Given the description of an element on the screen output the (x, y) to click on. 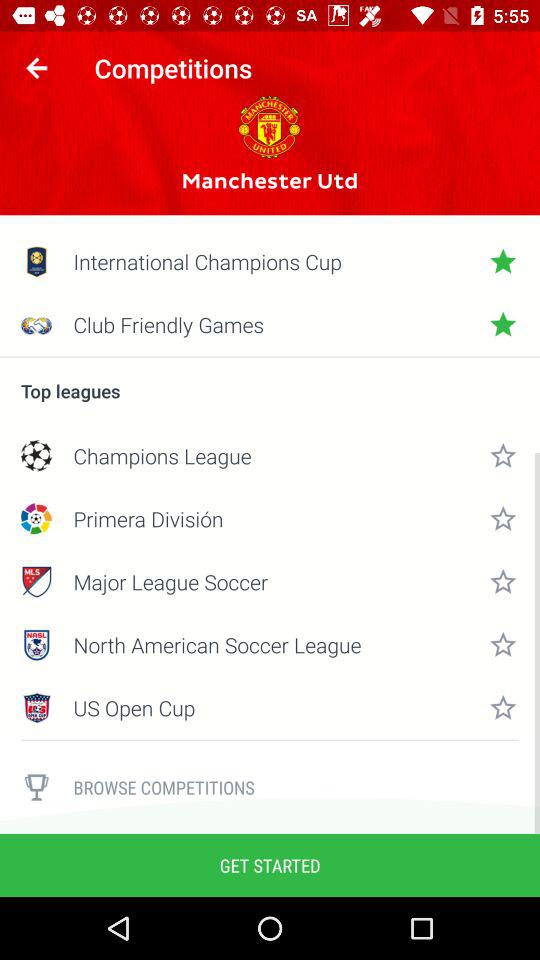
turn on item next to browse competitions item (36, 787)
